Given the description of an element on the screen output the (x, y) to click on. 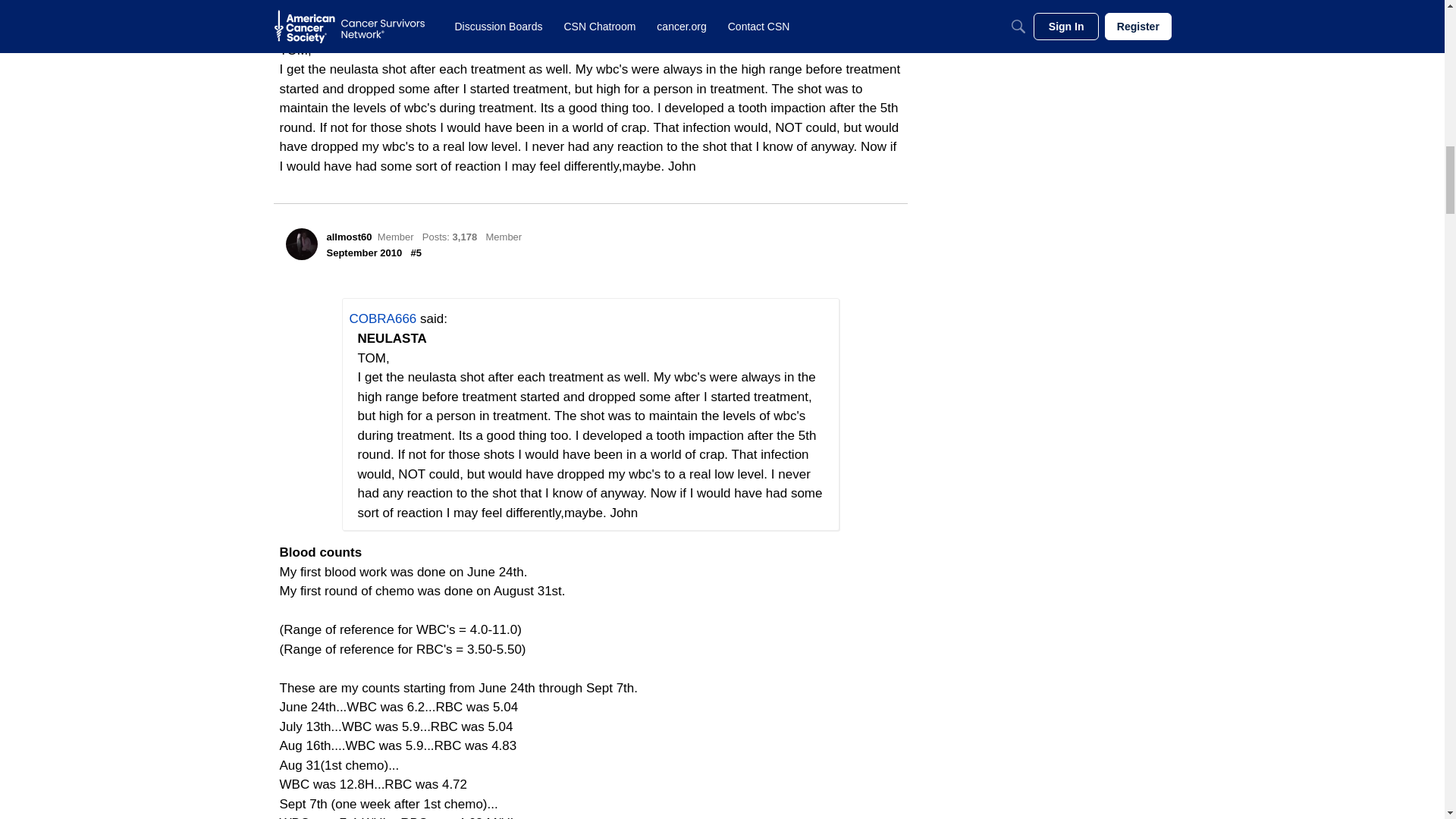
September 19, 2010 8:43PM (363, 252)
allmost60 (348, 236)
allmost60 (301, 244)
COBRA666 (382, 318)
Level 2 (502, 237)
September 2010 (363, 252)
